Given the description of an element on the screen output the (x, y) to click on. 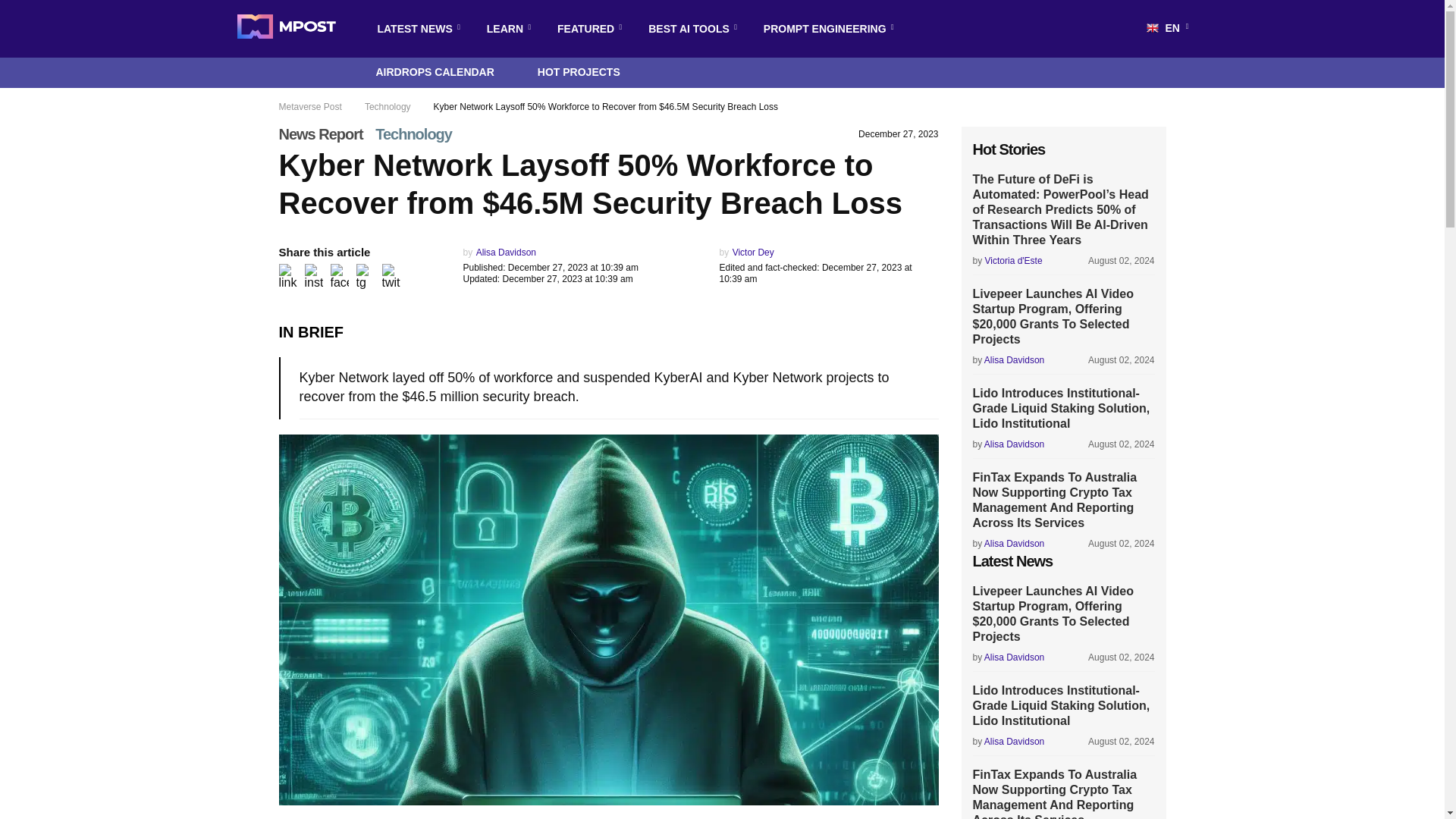
LEARN (505, 29)
Posts by Alisa Davidson (505, 252)
BEST AI TOOLS (688, 29)
Metaverse Post (284, 28)
LATEST NEWS (414, 29)
FEATURED (585, 29)
